Given the description of an element on the screen output the (x, y) to click on. 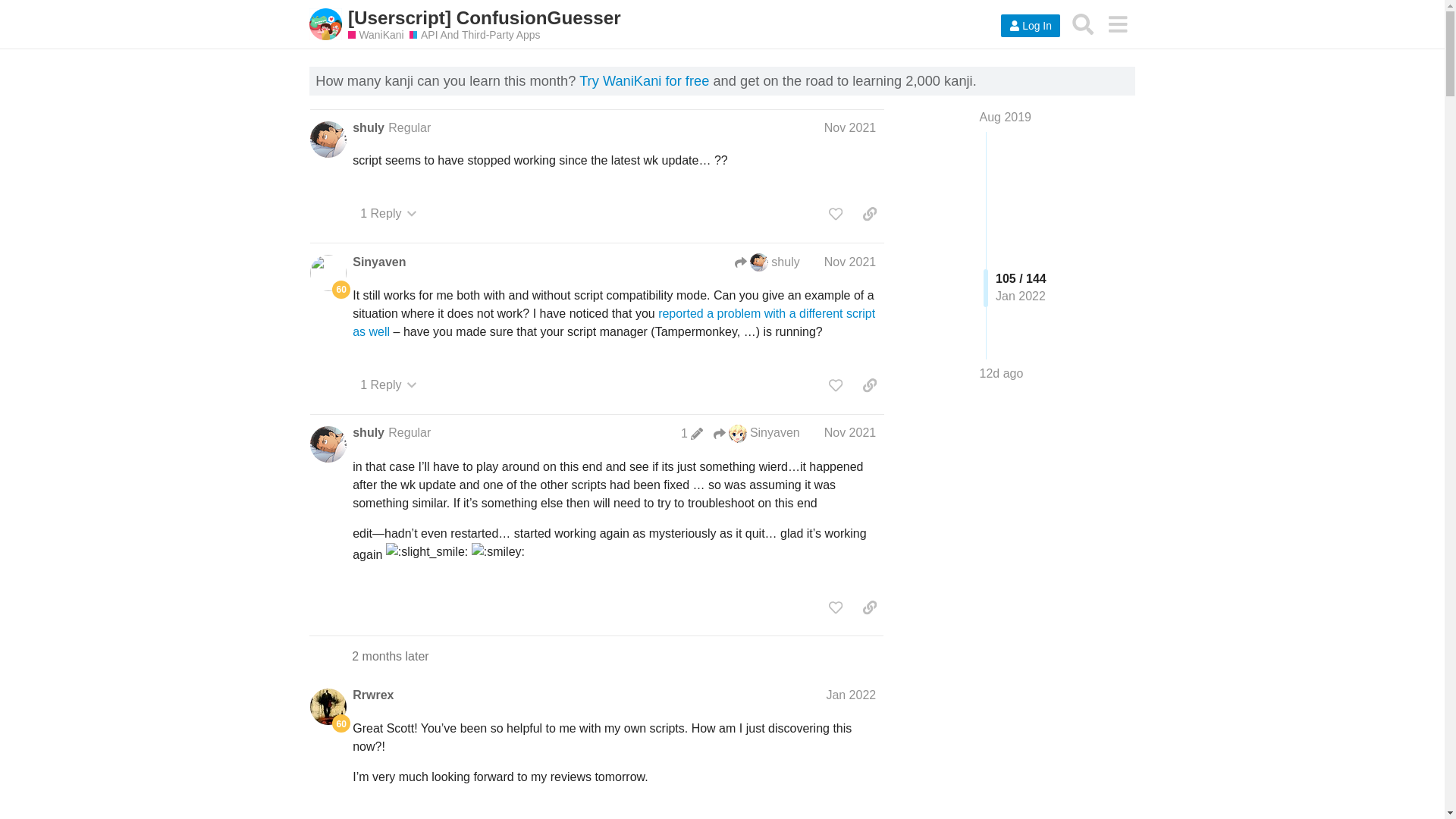
Rrwrex (372, 695)
menu (1117, 23)
Aug 2019 (1005, 116)
shuly (368, 433)
like this post (835, 213)
reported a problem with a different script as well (613, 322)
Sinyaven (379, 262)
Search (1082, 23)
Post date (850, 261)
Log In (1030, 25)
